Given the description of an element on the screen output the (x, y) to click on. 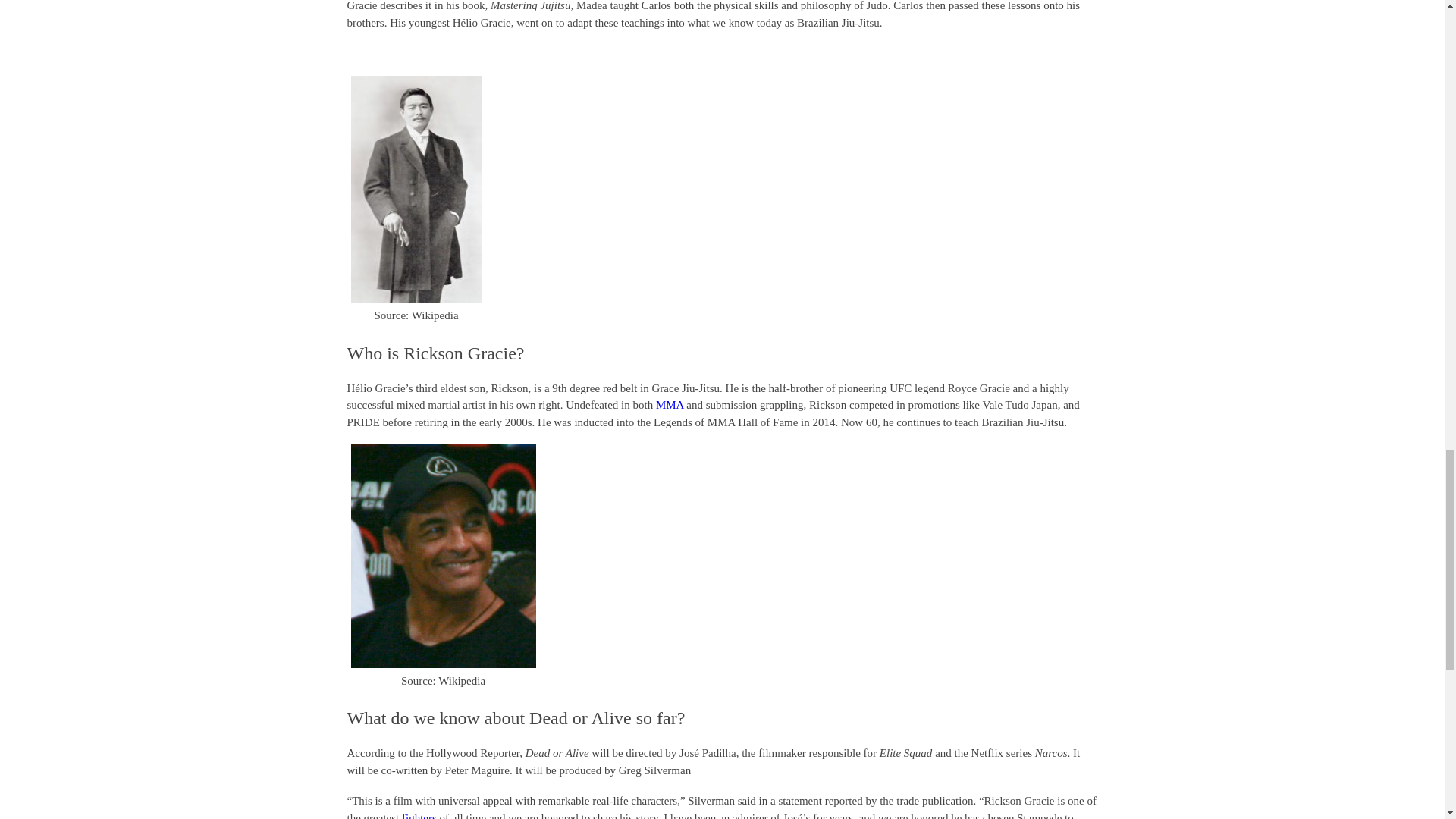
fighters (418, 815)
MMA (670, 404)
